Given the description of an element on the screen output the (x, y) to click on. 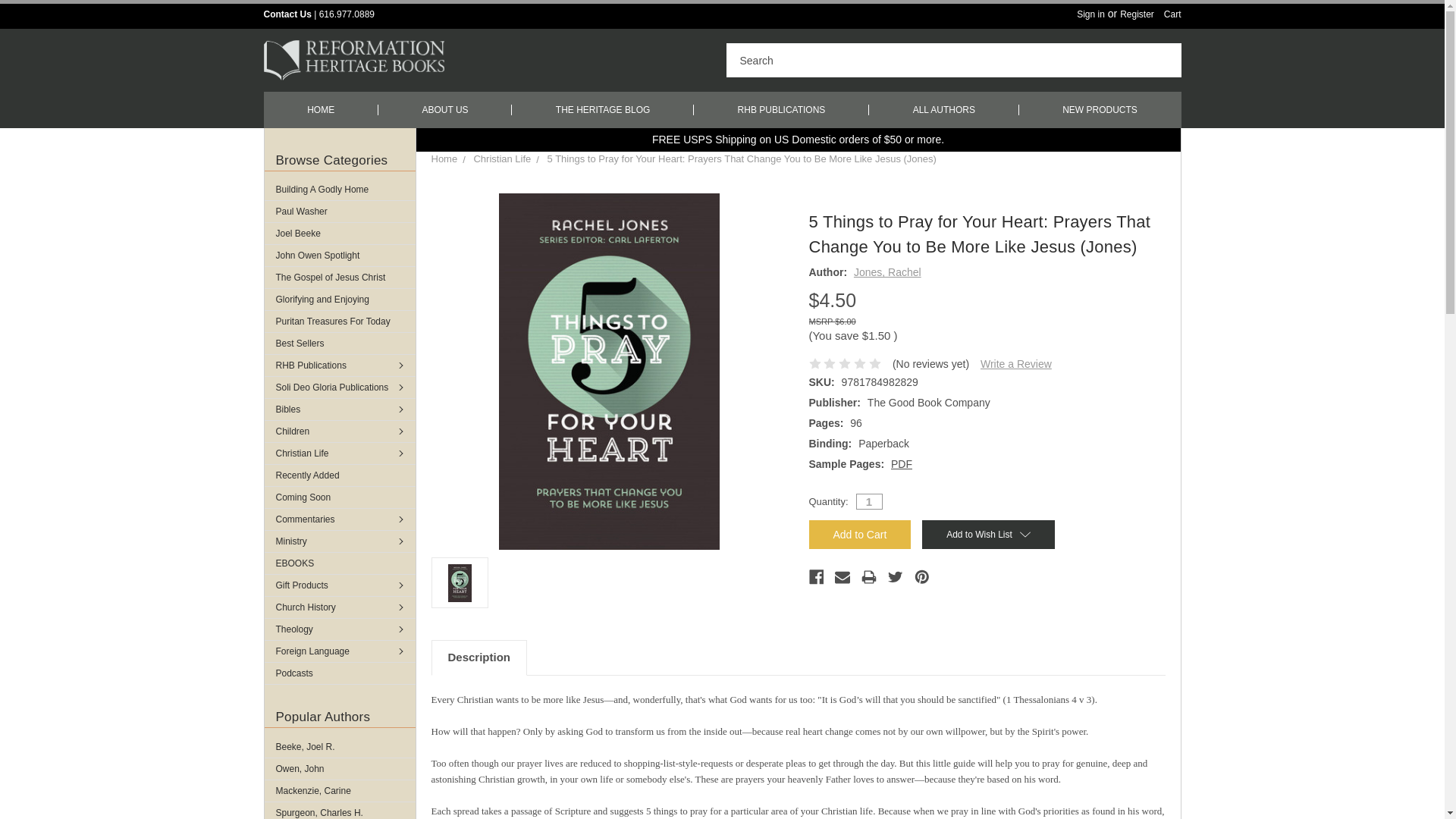
Joel Beeke (338, 233)
The Gospel of Jesus Christ (338, 277)
Cart (1172, 14)
facebook (816, 576)
Paul Washer (338, 210)
pinterest (922, 576)
ALL AUTHORS (944, 109)
email (842, 576)
Register (1136, 14)
Glorifying and Enjoying (338, 299)
Best Sellers (338, 342)
Sign in (1090, 14)
John Owen Spotlight (338, 255)
Building A Godly Home (338, 189)
RHB Publications (338, 364)
